Given the description of an element on the screen output the (x, y) to click on. 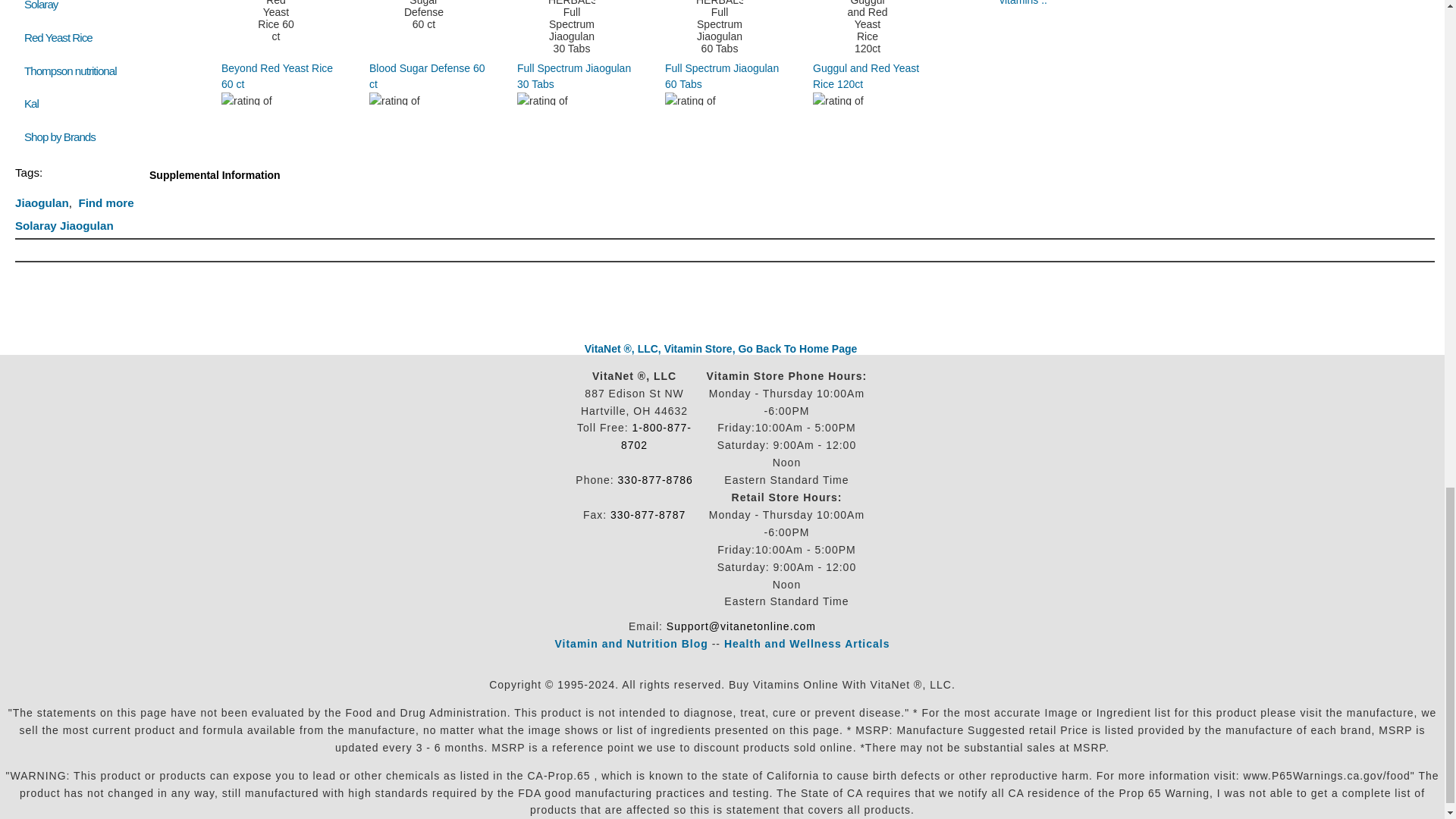
Kal (31, 103)
Kal Brand Products (31, 103)
red yeast rice extract (58, 37)
Find more Solaray Jiaogulan (73, 213)
Solaray (41, 5)
Thompson Nutritional Products (70, 70)
Red Yeast Rice (58, 37)
Shop by Brand Complete list (62, 136)
Solaray Products (41, 5)
VitaNet Home Page Link (721, 348)
